Given the description of an element on the screen output the (x, y) to click on. 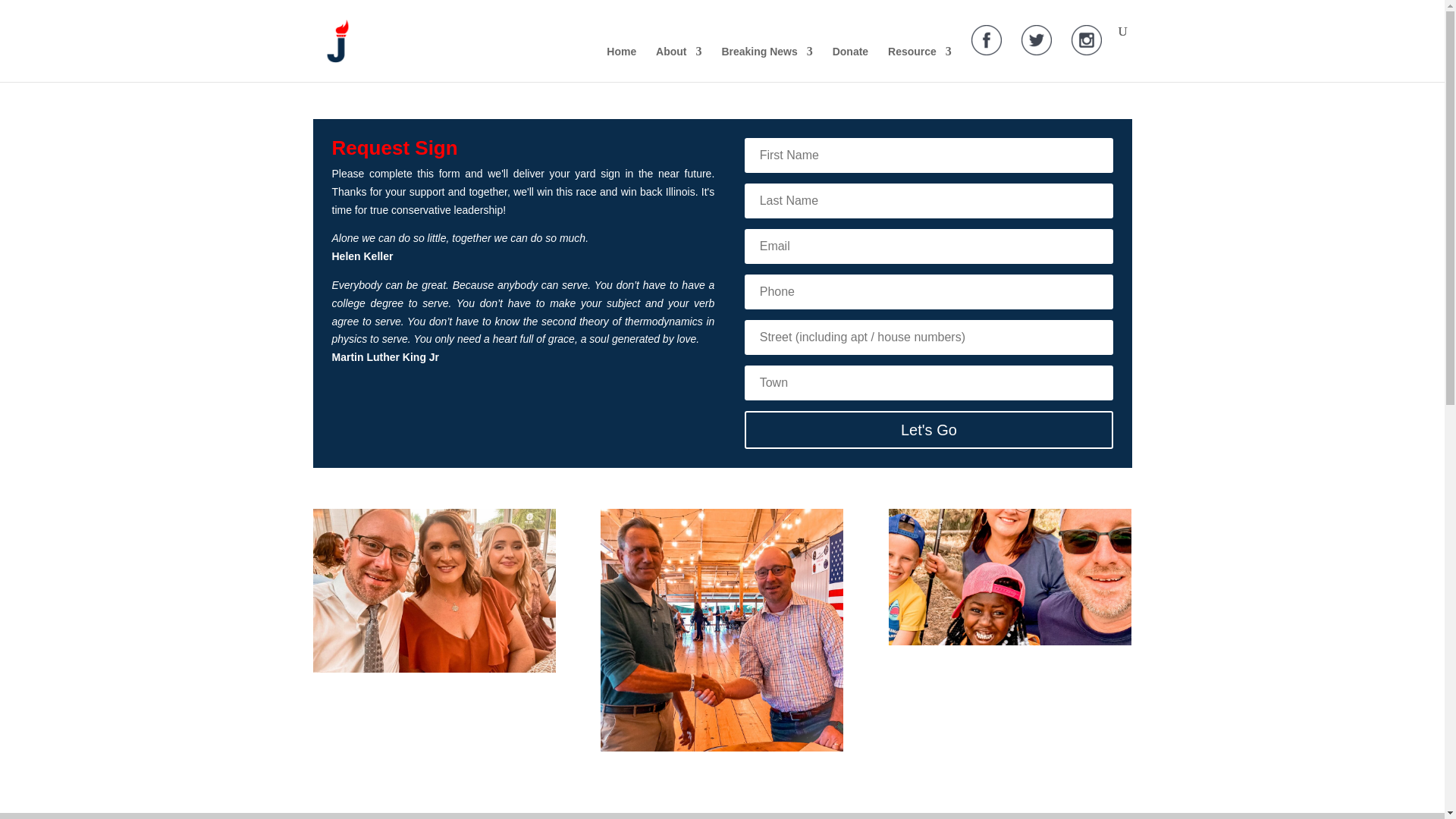
Breaking News (766, 63)
About 04 (433, 590)
Donate (849, 63)
About 02 (721, 629)
Resource (920, 63)
About (678, 63)
